Given the description of an element on the screen output the (x, y) to click on. 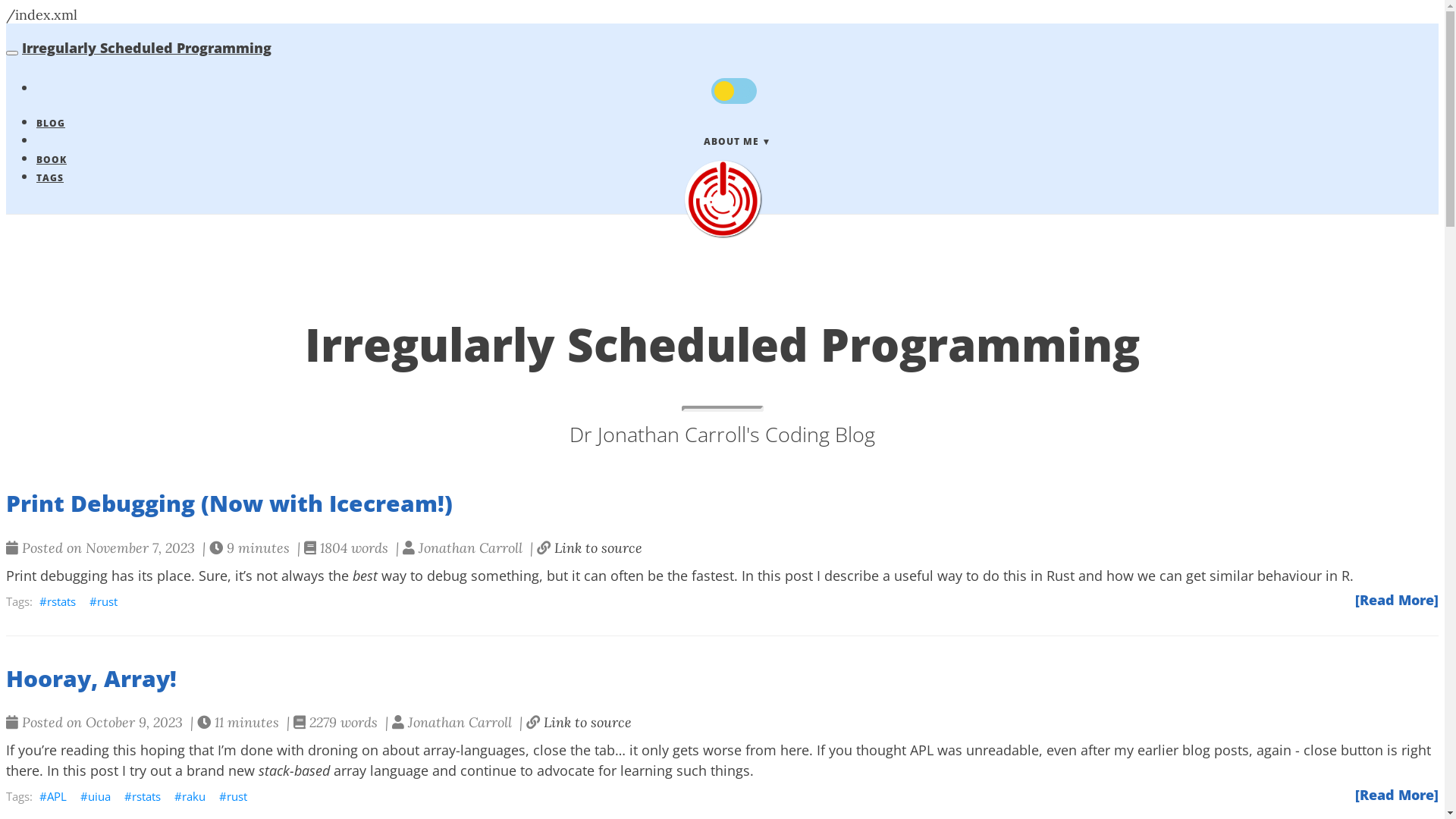
Irregularly Scheduled Programming Element type: hover (721, 198)
ABOUT ME Element type: text (737, 140)
[Read More] Element type: text (1396, 794)
rust Element type: text (233, 795)
APL Element type: text (52, 795)
rust Element type: text (103, 600)
raku Element type: text (189, 795)
BOOK Element type: text (51, 159)
Hooray, Array! Element type: text (722, 677)
rstats Element type: text (57, 600)
uiua Element type: text (95, 795)
Link to source Element type: text (587, 722)
rstats Element type: text (142, 795)
Print Debugging (Now with Icecream!) Element type: text (722, 502)
TAGS Element type: text (49, 177)
Irregularly Scheduled Programming Element type: text (146, 47)
Link to source Element type: text (598, 547)
earlier blog posts Element type: text (1192, 749)
[Read More] Element type: text (1396, 599)
BLOG Element type: text (50, 122)
Toggle navigation Element type: text (12, 52)
